Given the description of an element on the screen output the (x, y) to click on. 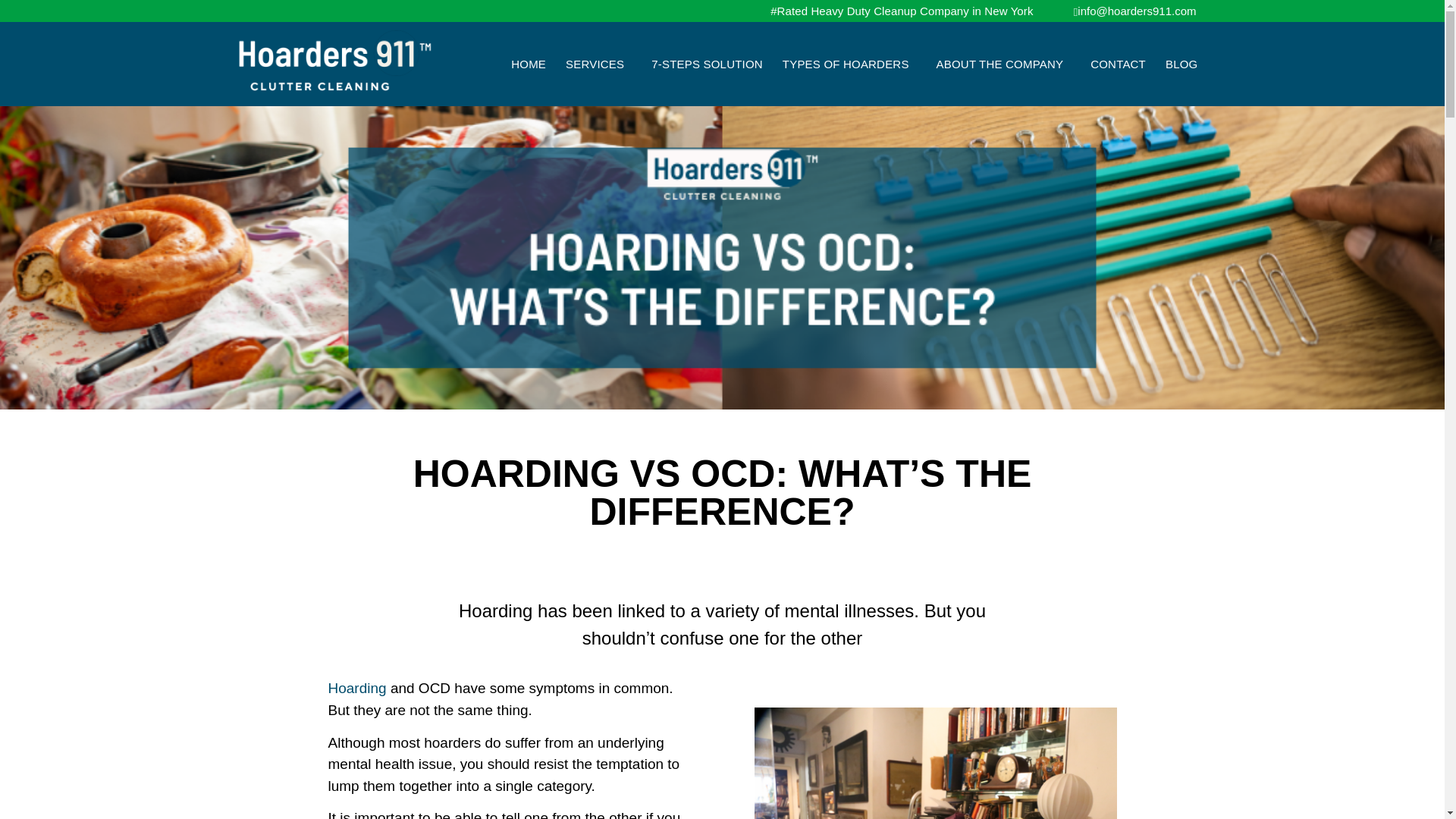
Hoarding (356, 688)
TYPES OF HOARDERS (849, 63)
ABOUT THE COMPANY (1003, 63)
HOME (528, 63)
BLOG (1181, 63)
CONTACT (1118, 63)
SERVICES (599, 63)
7-STEPS SOLUTION (707, 63)
